Given the description of an element on the screen output the (x, y) to click on. 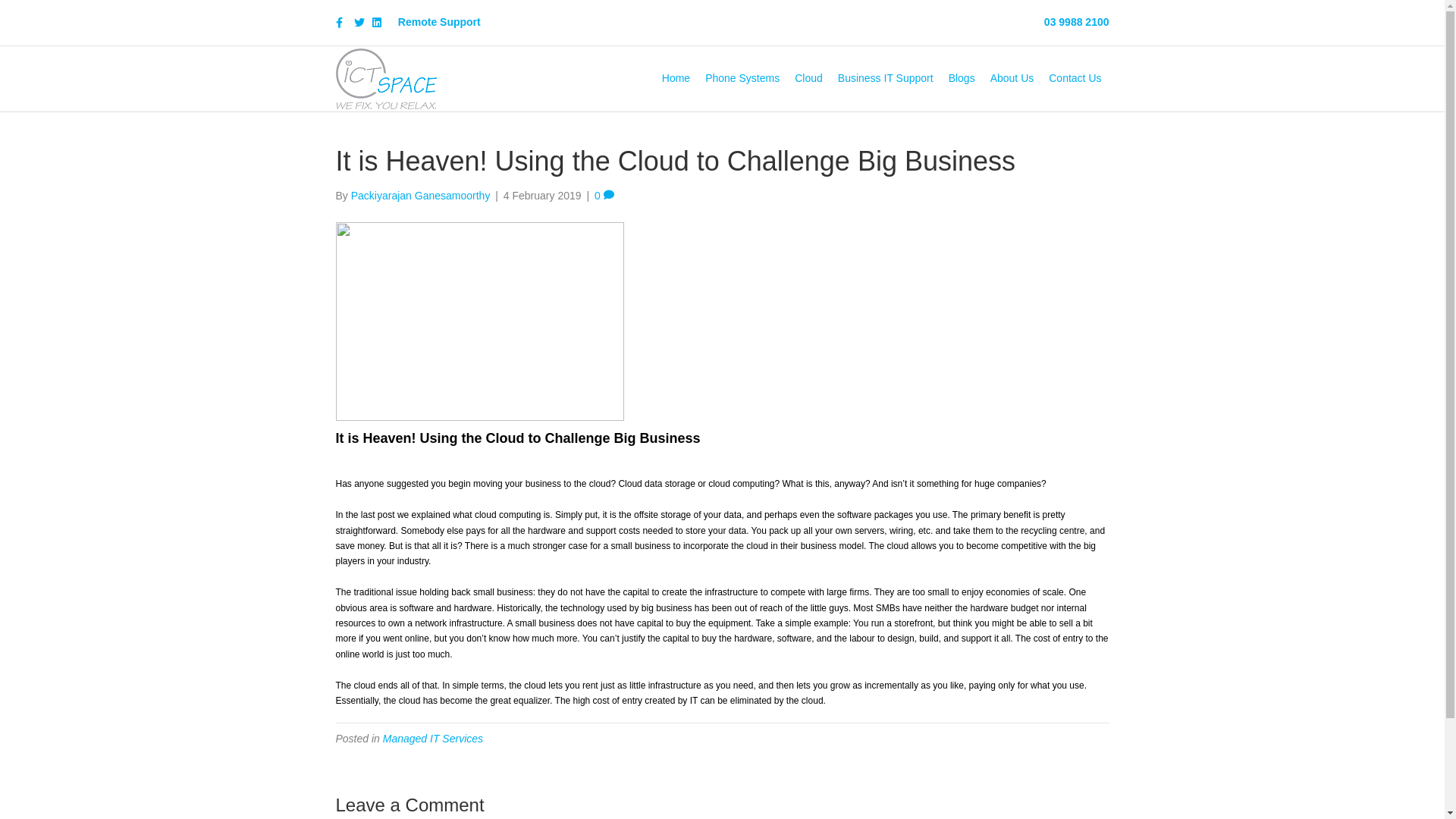
Contact Us Element type: text (1074, 78)
Remote Support Element type: text (439, 21)
Home Element type: text (675, 78)
Packiyarajan Ganesamoorthy Element type: text (420, 195)
Cloud Element type: text (808, 78)
0 Element type: text (604, 195)
About Us Element type: text (1011, 78)
Managed IT Services Element type: text (432, 738)
Blogs Element type: text (961, 78)
Business IT Support Element type: text (885, 78)
Facebook Element type: text (344, 21)
Phone Systems Element type: text (742, 78)
Twitter Element type: text (362, 21)
Linkedin Element type: text (380, 21)
